Given the description of an element on the screen output the (x, y) to click on. 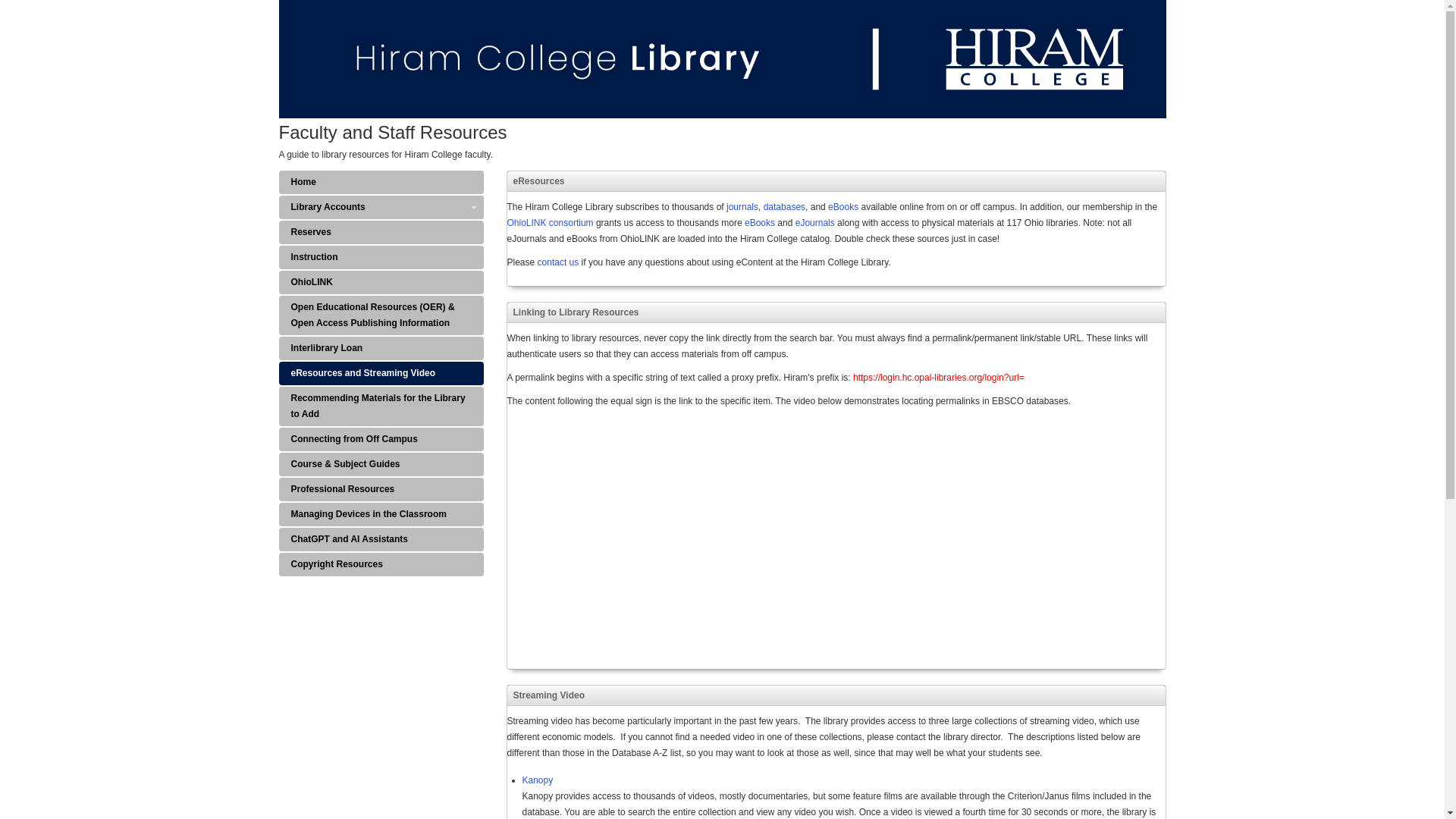
Connecting from Off Campus (381, 439)
Home (381, 182)
eBooks (844, 206)
contact us (558, 262)
YouTube video player (718, 536)
Toggle Dropdown (473, 207)
eResources and Streaming Video (381, 372)
Library Accounts (381, 207)
Managing Devices in the Classroom (381, 514)
journals (742, 206)
OhioLINK (381, 282)
eBooks (760, 222)
Interlibrary Loan (381, 348)
Recommending Materials for the Library to Add (381, 405)
Reserves (381, 232)
